Given the description of an element on the screen output the (x, y) to click on. 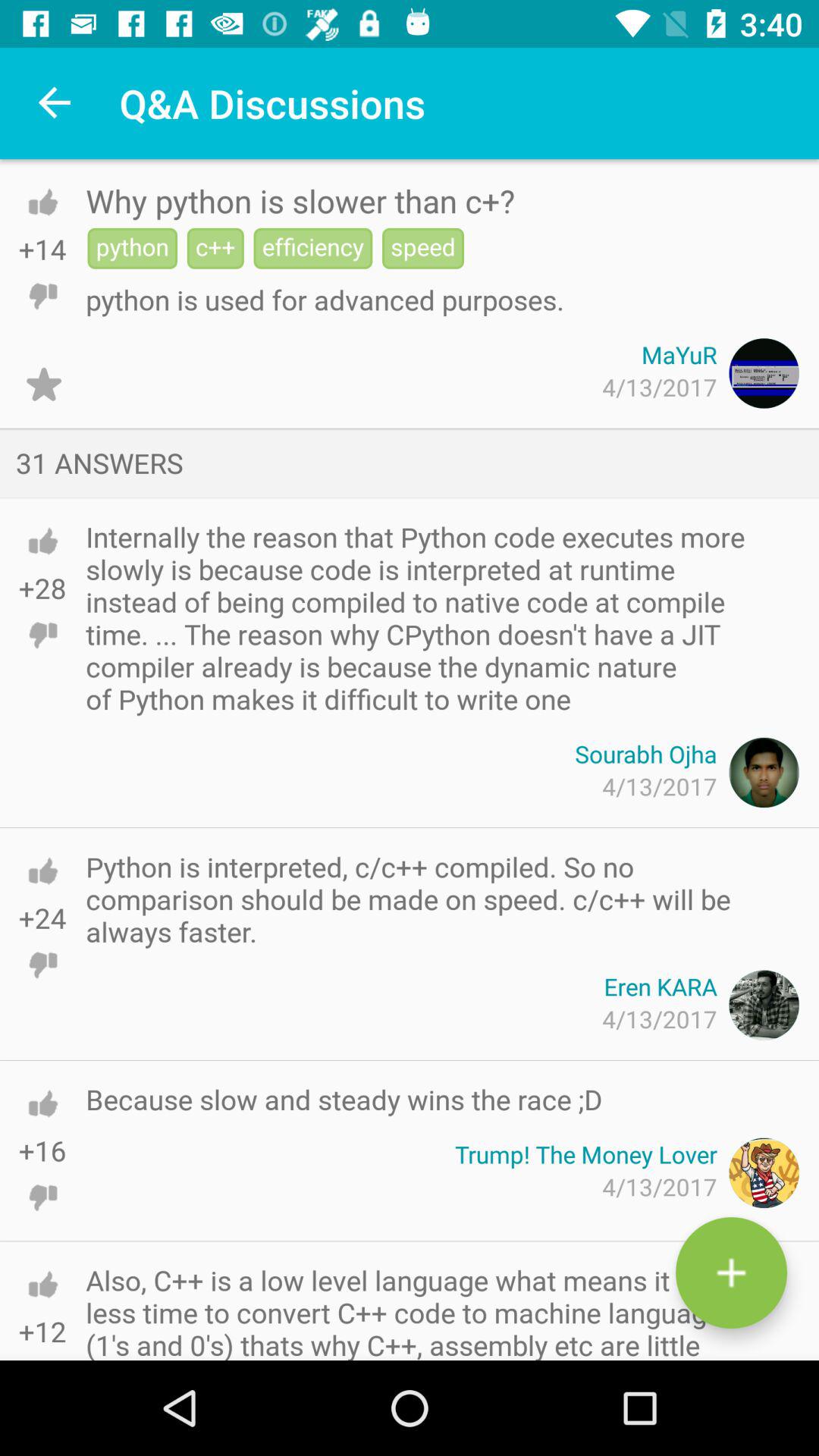
give approval to answer (42, 541)
